Given the description of an element on the screen output the (x, y) to click on. 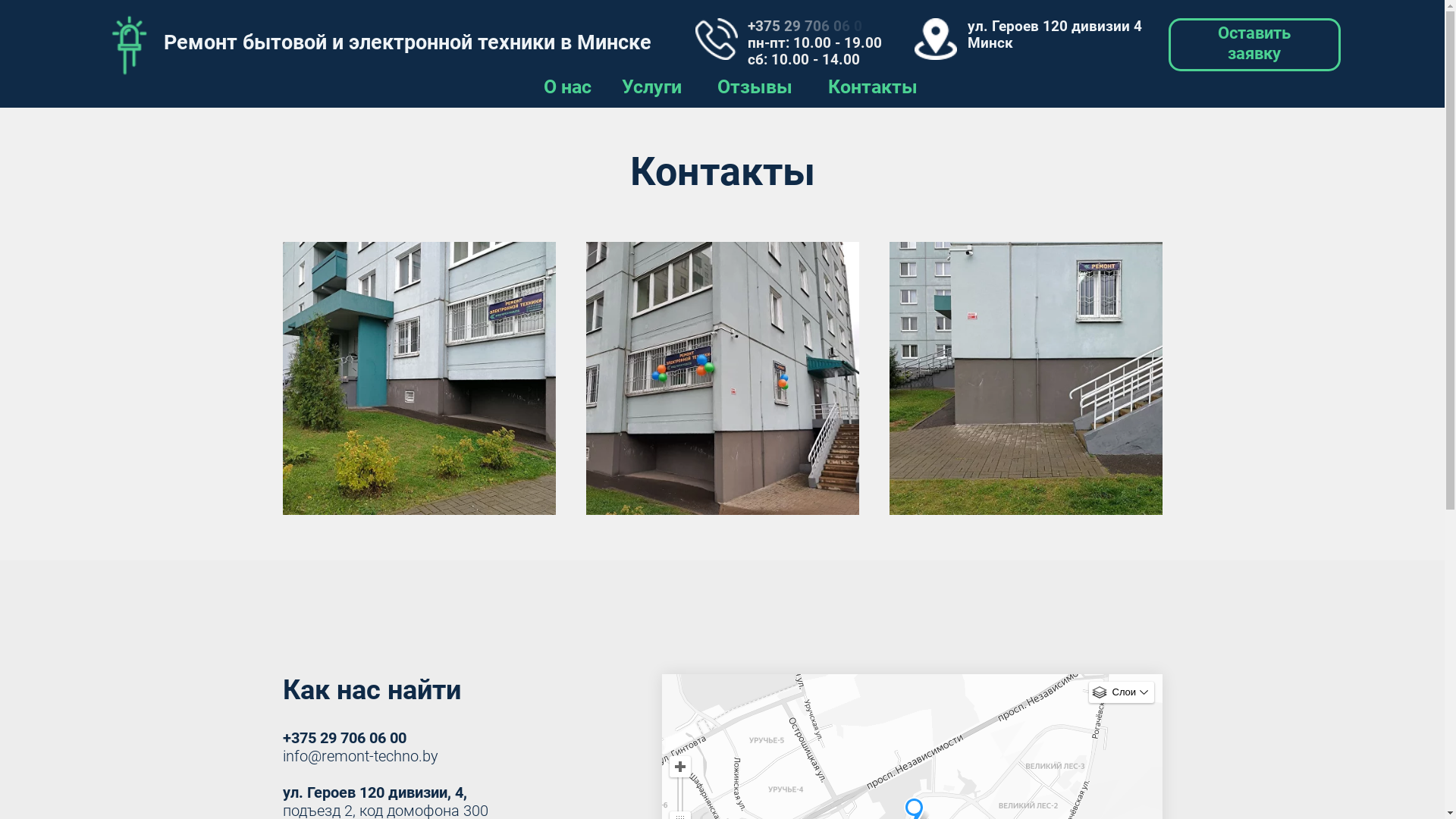
+375 29 706 06 00 Element type: text (343, 737)
+375 29 706 06 0 Element type: text (509, 15)
